Given the description of an element on the screen output the (x, y) to click on. 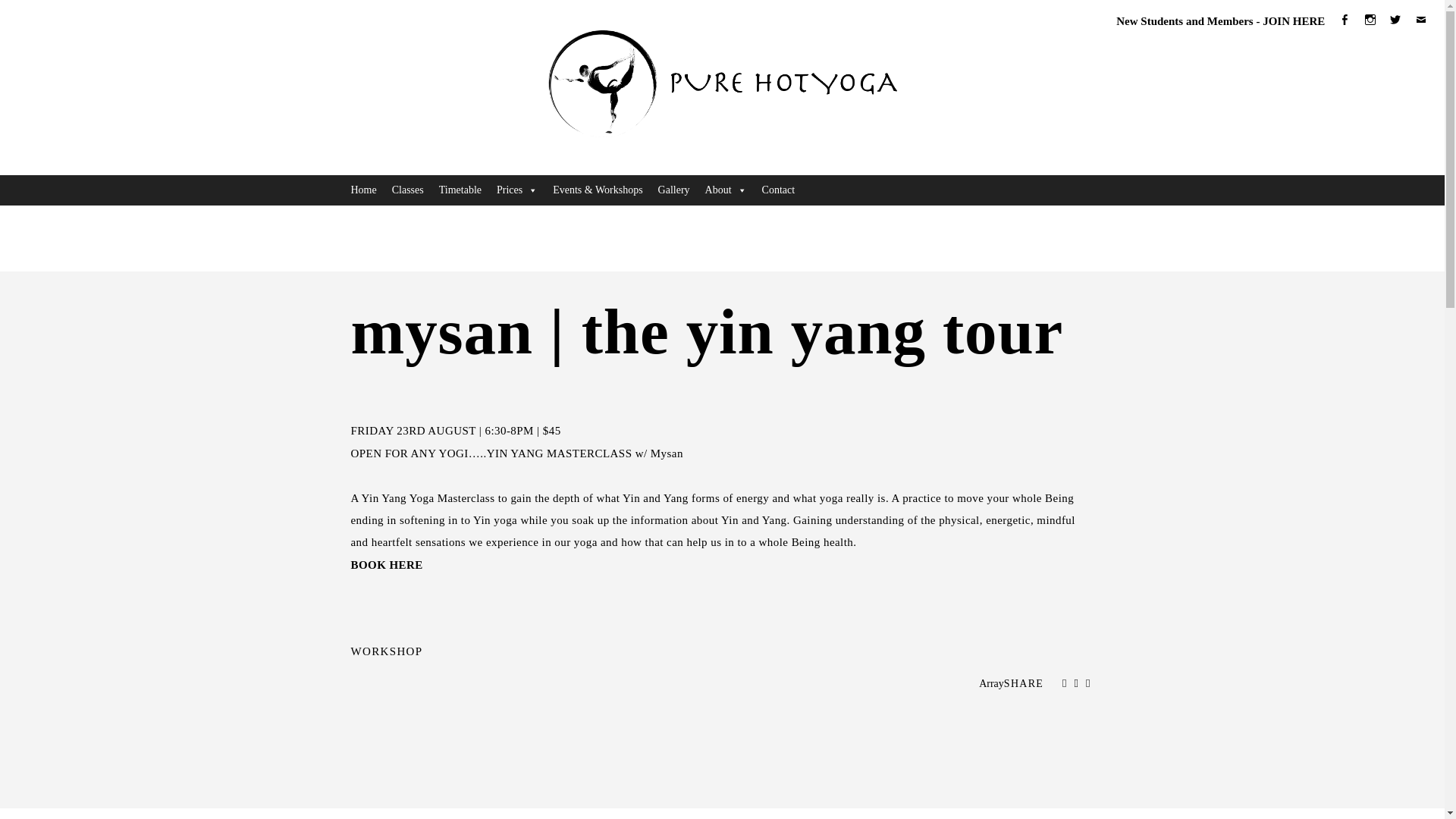
BOOK HERE (386, 564)
New Students and Members - JOIN HERE (1220, 21)
Classes (407, 190)
Timetable (459, 190)
About (725, 190)
Gallery (673, 190)
Contact (778, 190)
Home (363, 190)
Prices (516, 190)
WORKSHOP (386, 651)
